Given the description of an element on the screen output the (x, y) to click on. 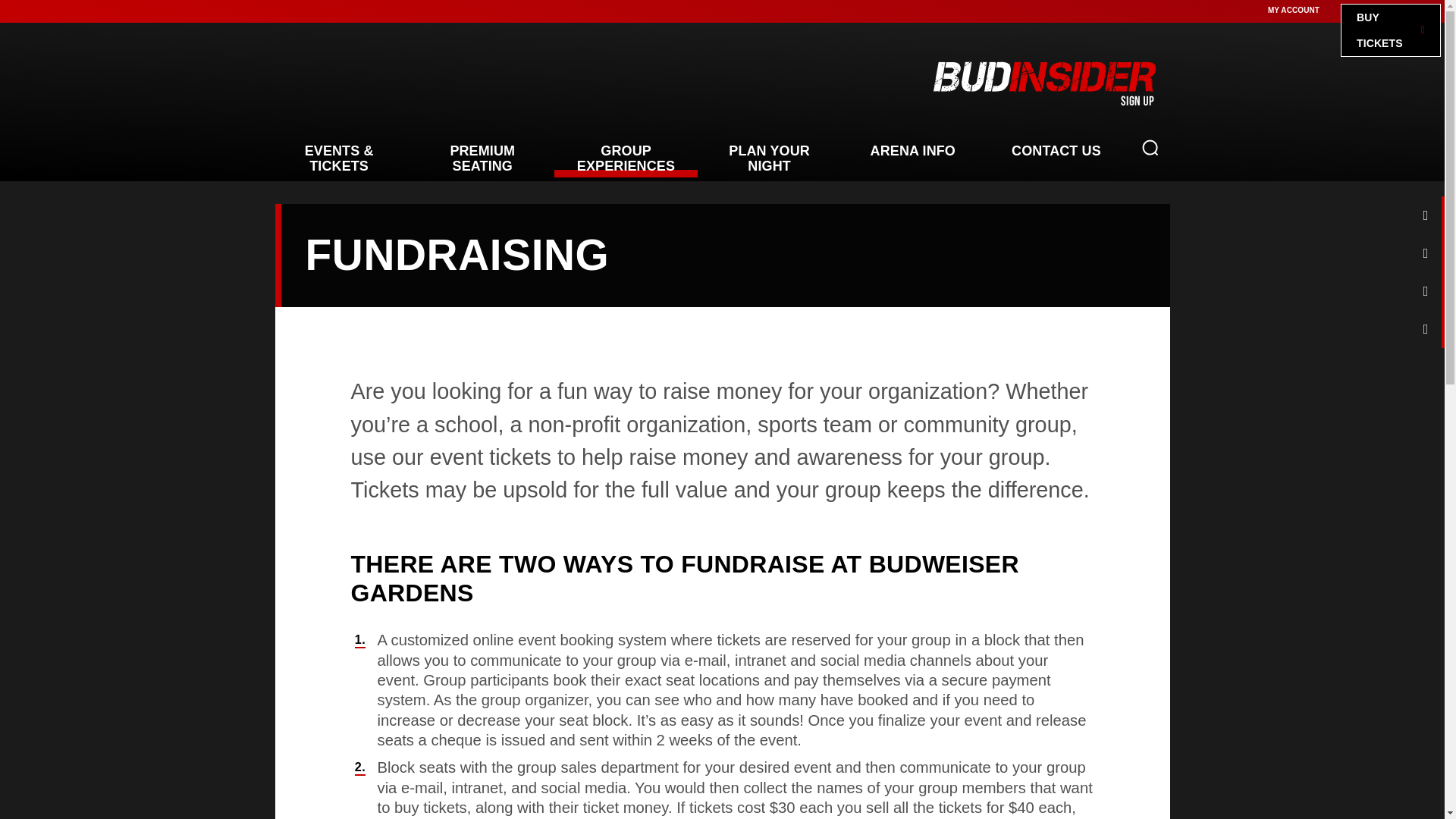
Budweiser Gardens (419, 82)
Bud Insider (1043, 82)
MY ACCOUNT (1293, 9)
GROUP EXPERIENCES (625, 158)
PREMIUM SEATING (482, 158)
PLAN YOUR NIGHT (769, 158)
BUY TICKETS (1390, 30)
Budweiser Gardens (419, 82)
